Given the description of an element on the screen output the (x, y) to click on. 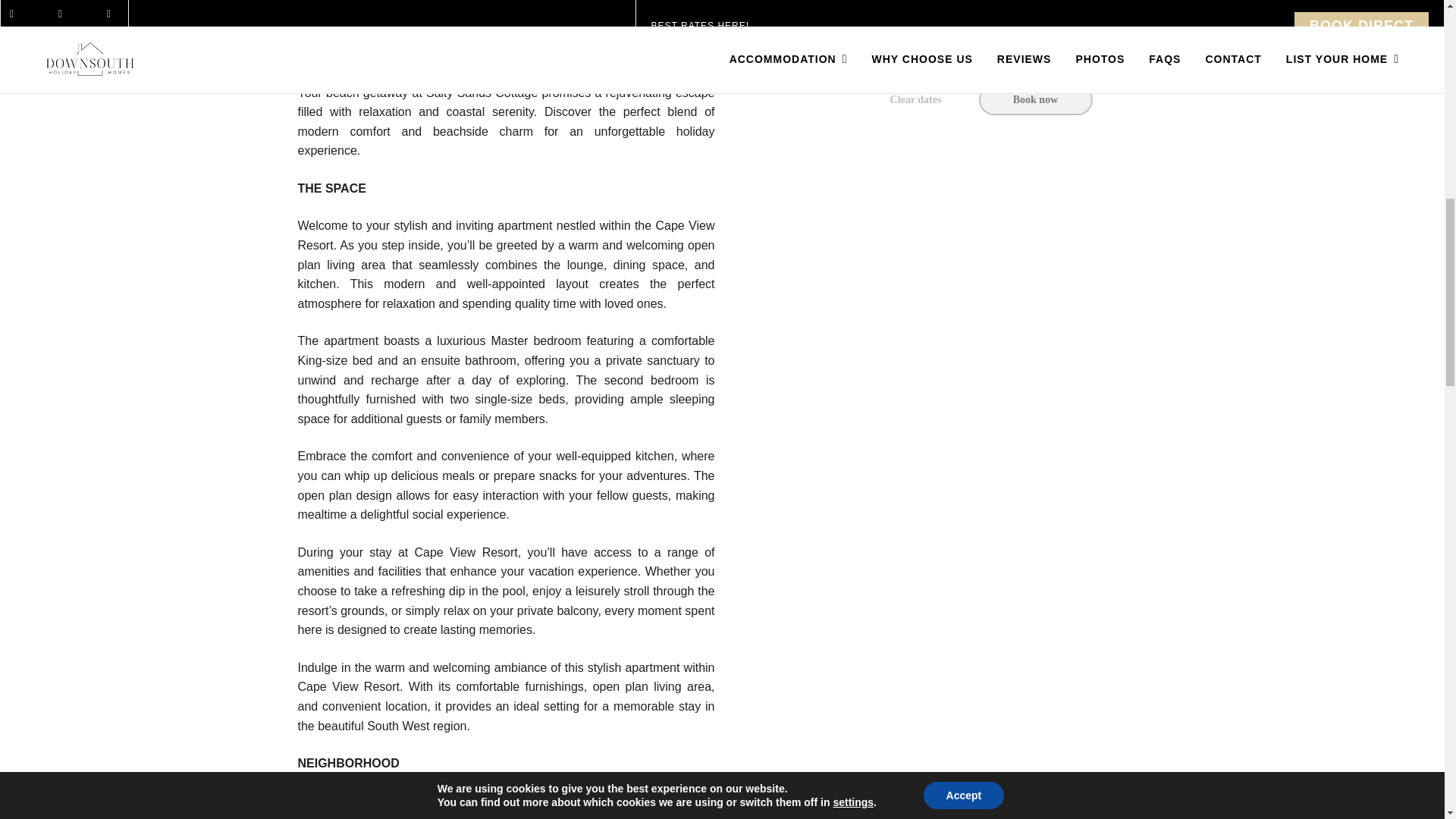
Clear dates (915, 100)
Book now (1035, 100)
